Given the description of an element on the screen output the (x, y) to click on. 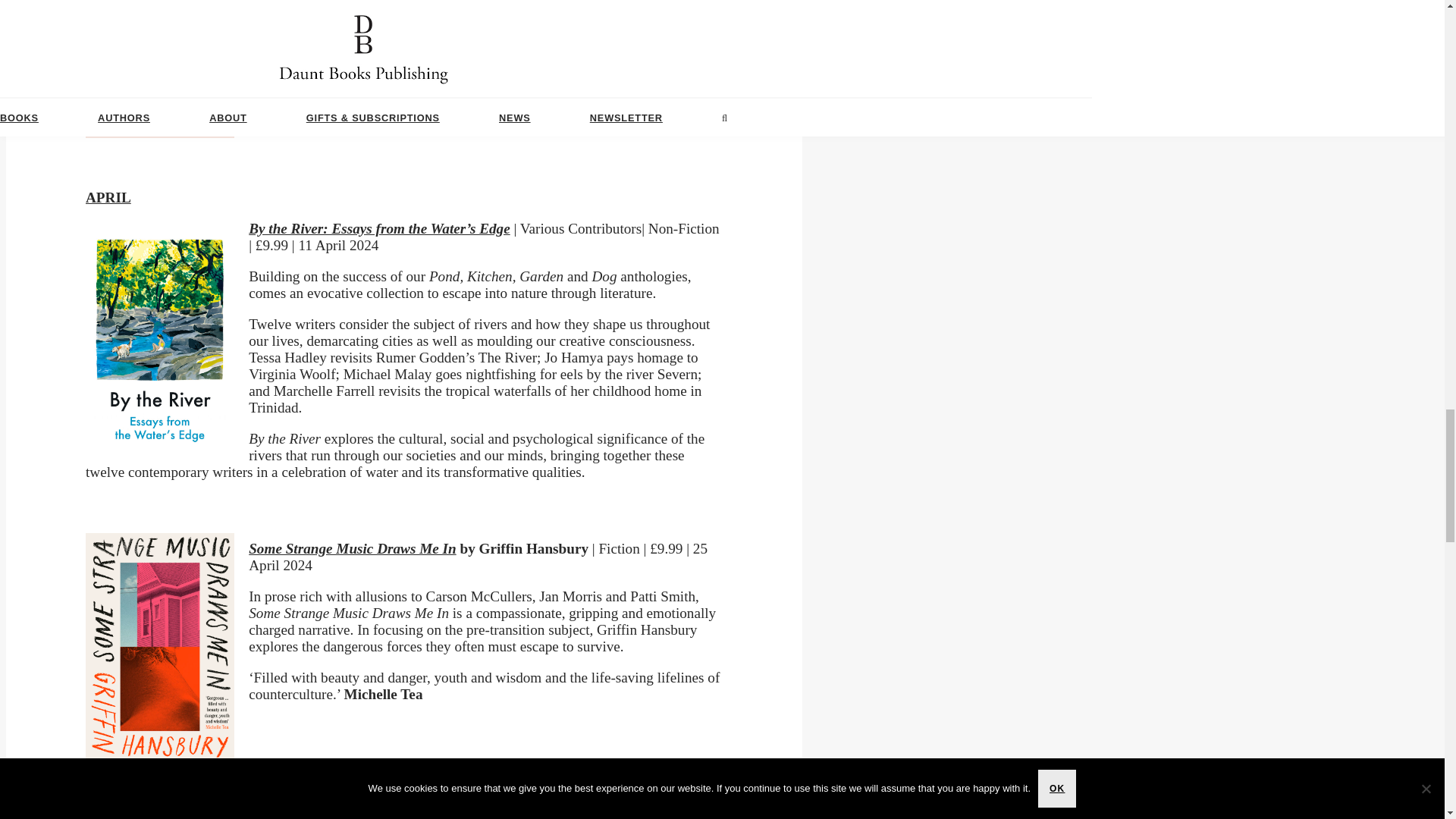
Some Strange Music Draws Me In (351, 548)
